Given the description of an element on the screen output the (x, y) to click on. 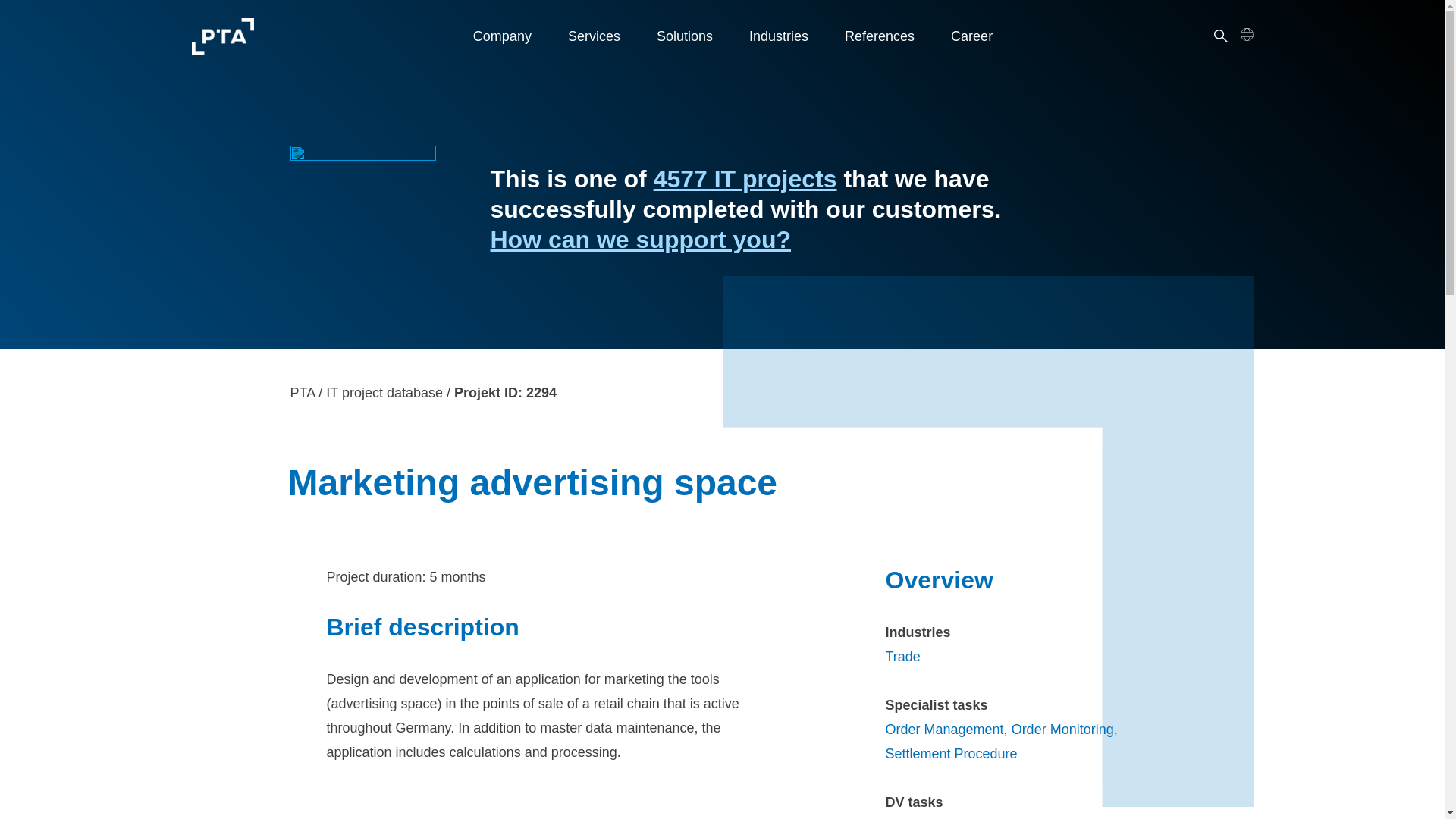
Career (971, 36)
Company (502, 36)
